Given the description of an element on the screen output the (x, y) to click on. 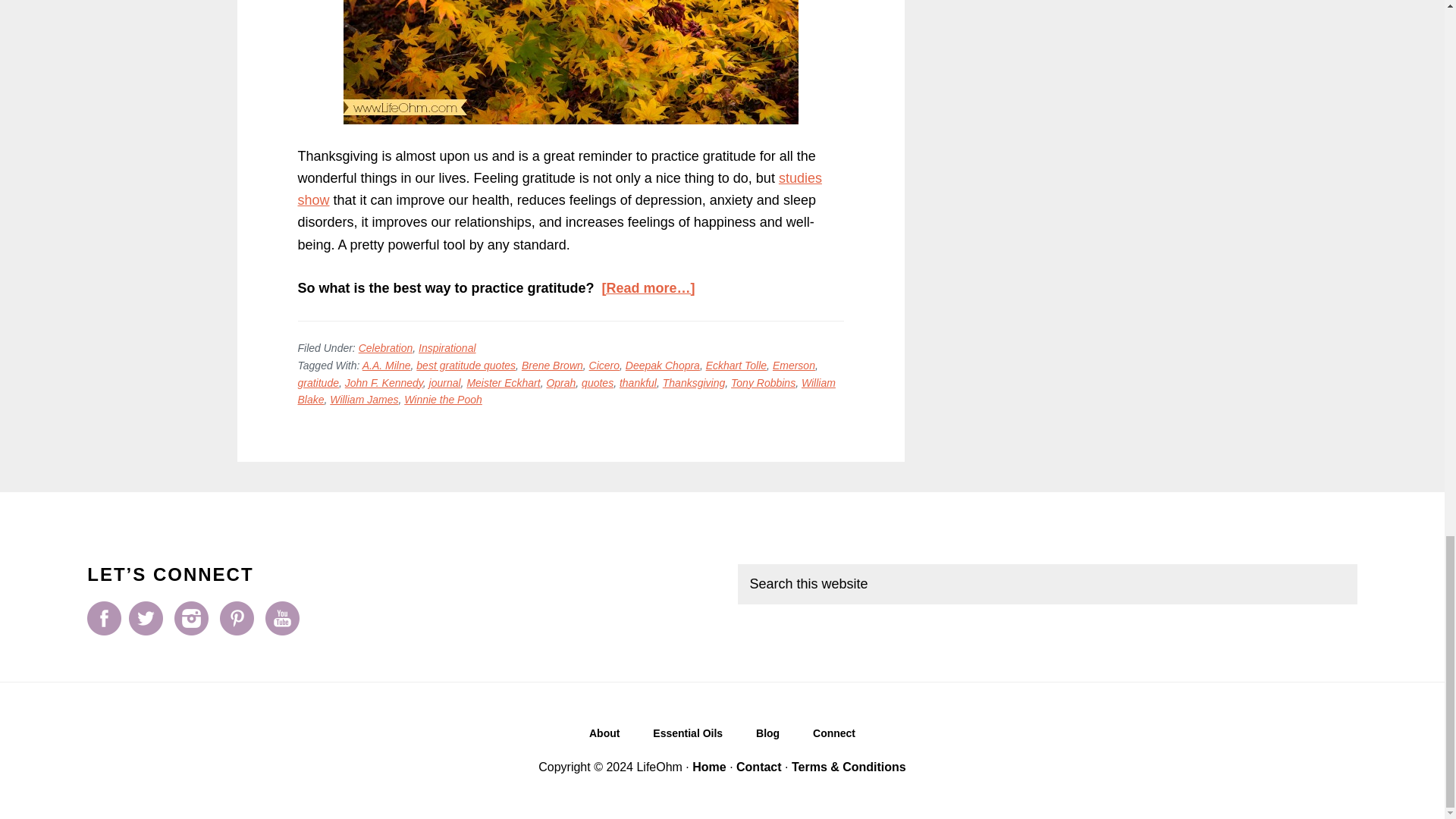
A.A. Milne (386, 365)
studies show (559, 189)
Gratitude Studies (559, 189)
Celebration (385, 347)
Inspirational (447, 347)
